Given the description of an element on the screen output the (x, y) to click on. 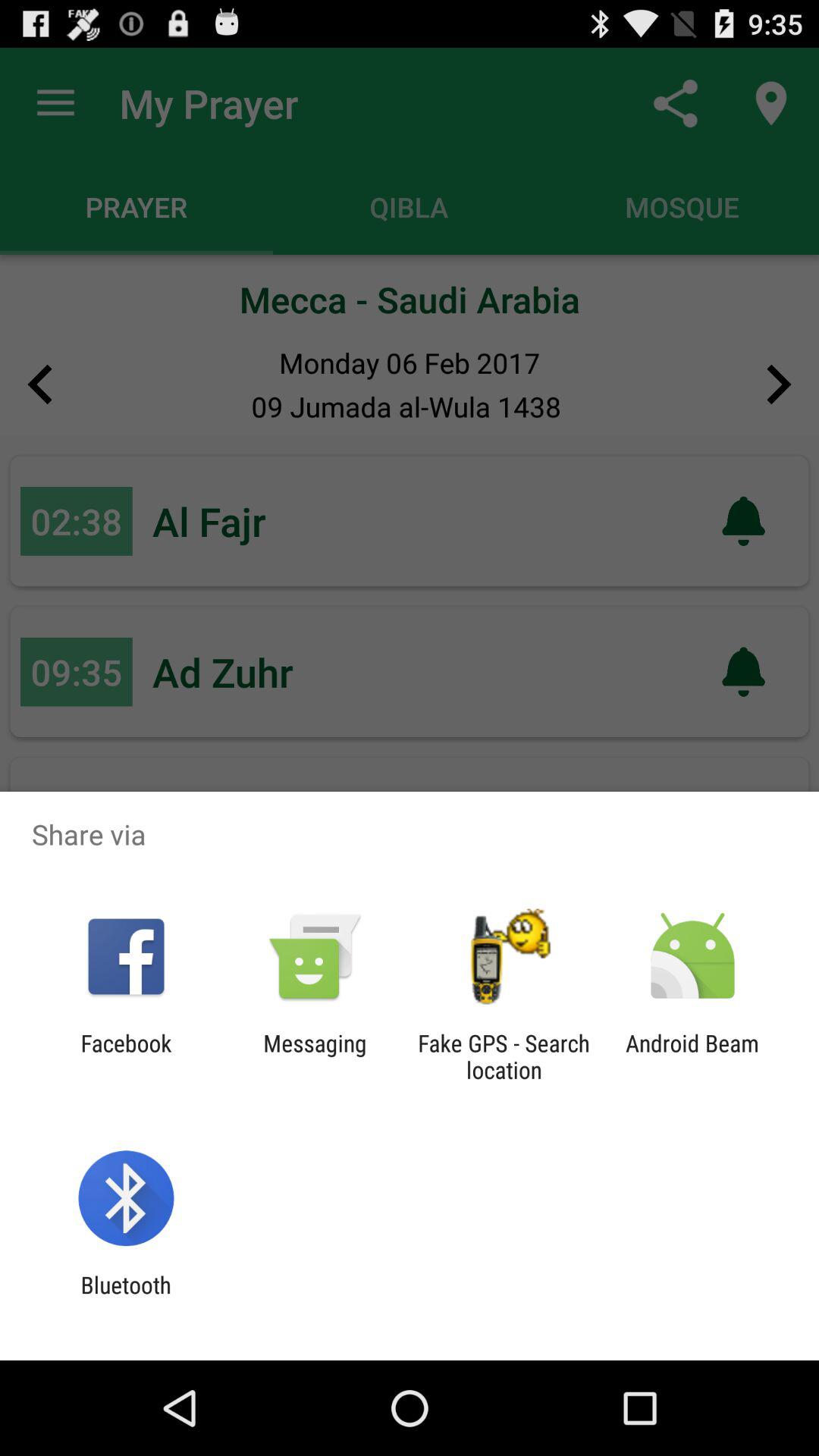
flip until the messaging item (314, 1056)
